Given the description of an element on the screen output the (x, y) to click on. 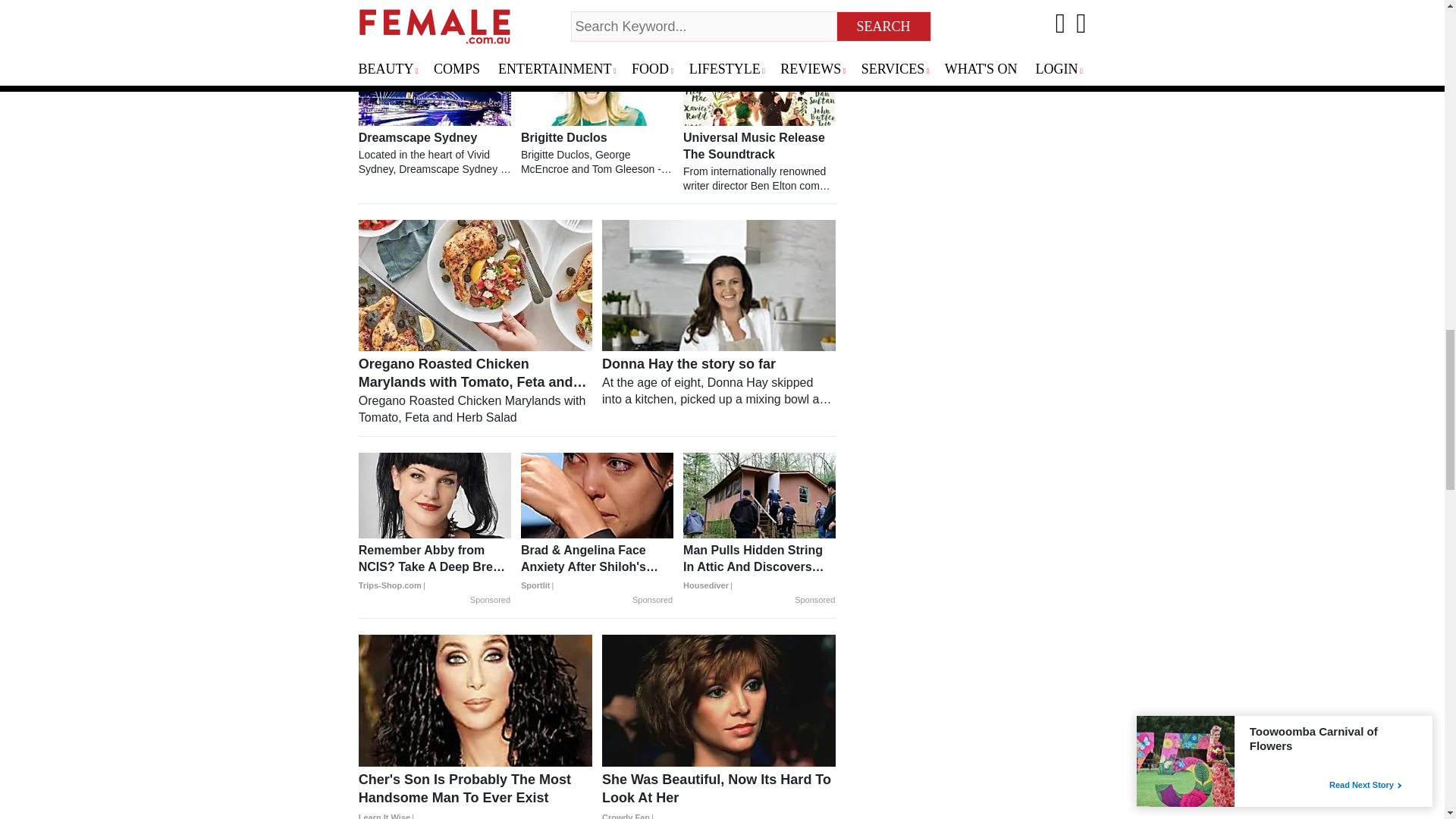
Dreamscape Sydney (434, 152)
